Given the description of an element on the screen output the (x, y) to click on. 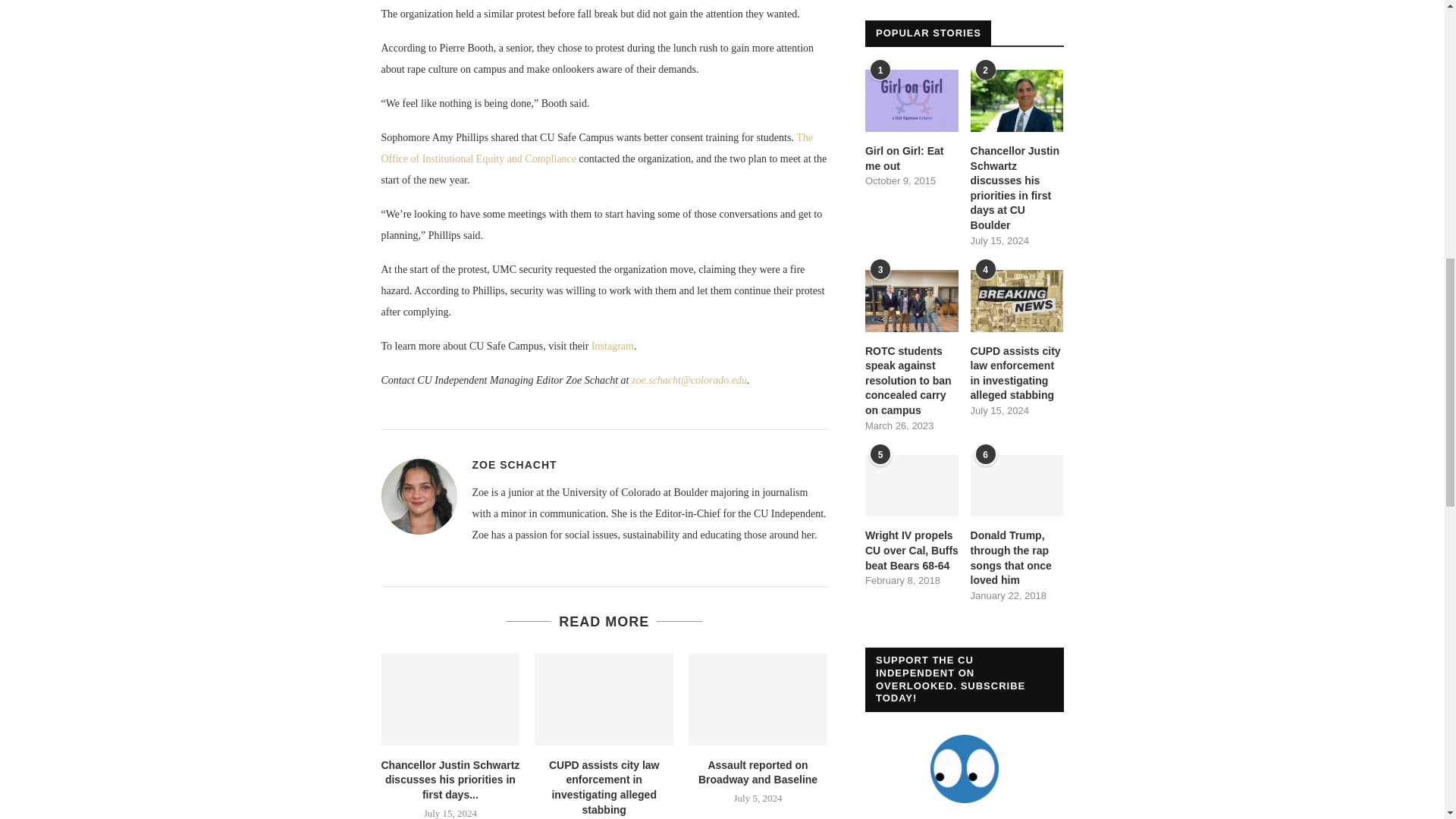
Wright IV propels CU over Cal, Buffs beat Bears 68-64 (911, 485)
Posts by Zoe Schacht (513, 464)
Assault reported on Broadway and Baseline (757, 698)
Girl on Girl: Eat me out (911, 158)
Wright IV propels CU over Cal, Buffs beat Bears 68-64 (911, 550)
Girl on Girl: Eat me out (911, 100)
